Given the description of an element on the screen output the (x, y) to click on. 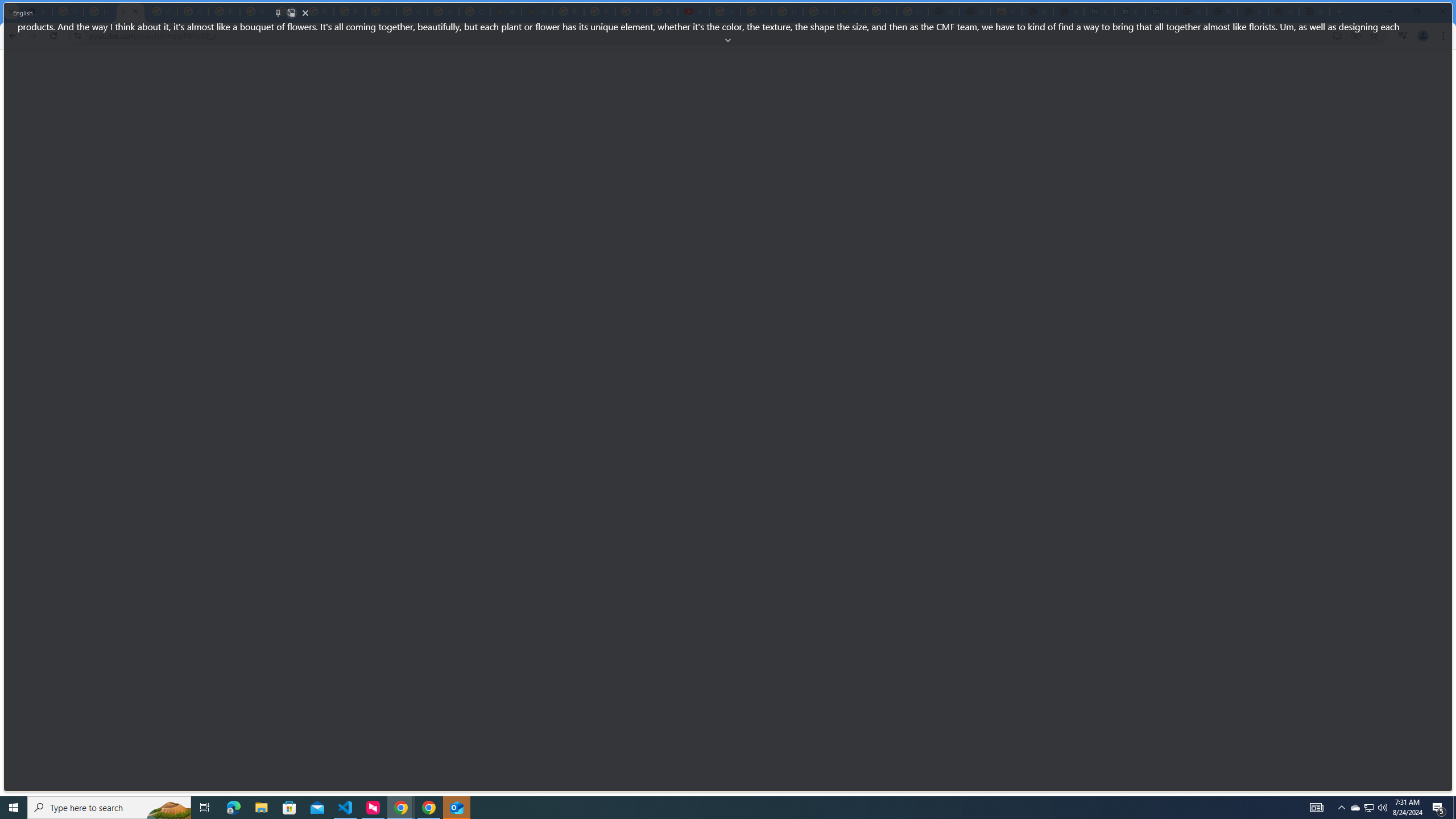
Delete photos & videos - Computer - Google Photos Help (67, 11)
How Chrome protects your passwords - Google Chrome Help (724, 11)
